Given the description of an element on the screen output the (x, y) to click on. 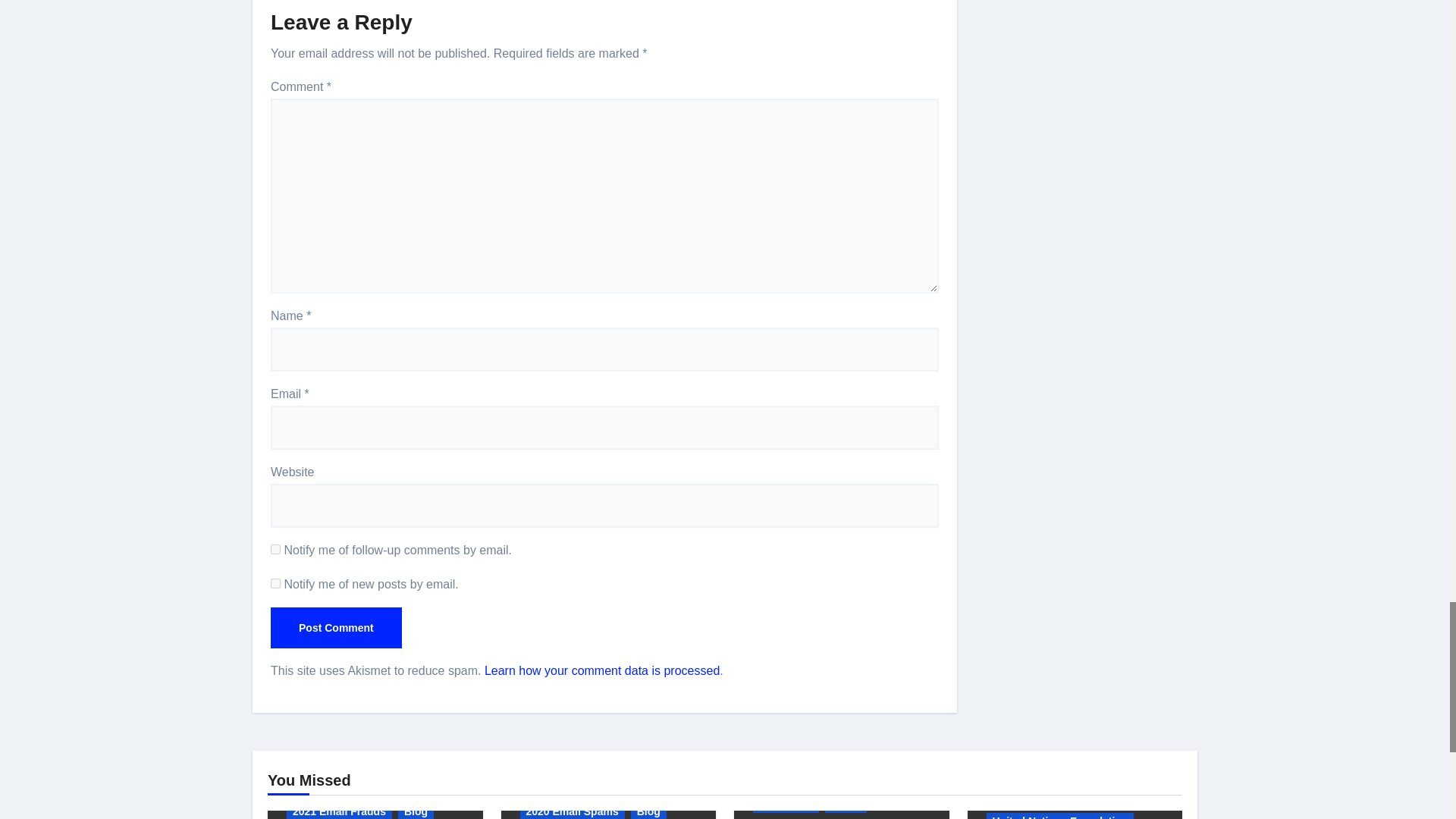
subscribe (275, 583)
Post Comment (335, 627)
subscribe (275, 549)
